Given the description of an element on the screen output the (x, y) to click on. 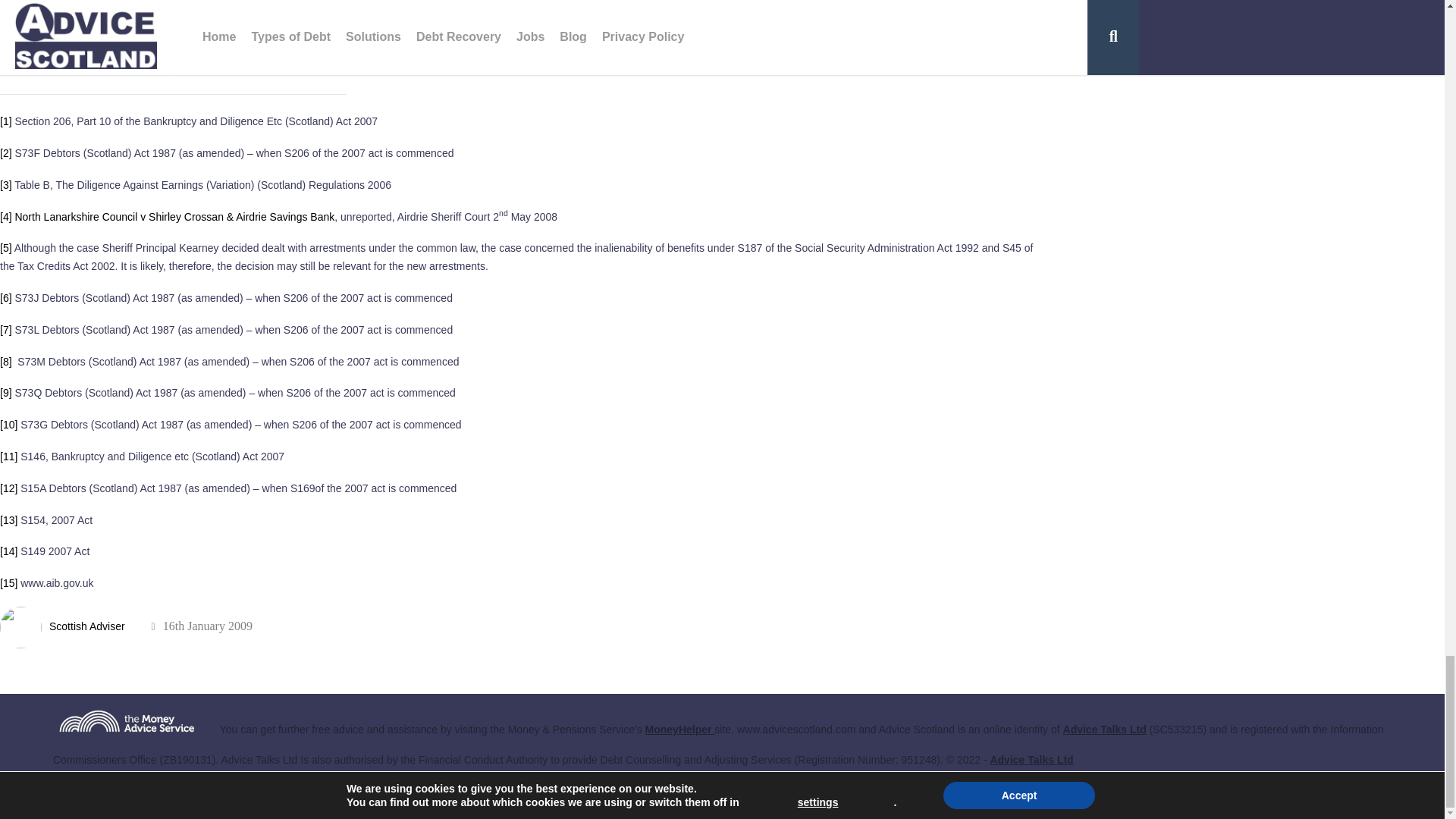
View as Mobile (1340, 788)
